Given the description of an element on the screen output the (x, y) to click on. 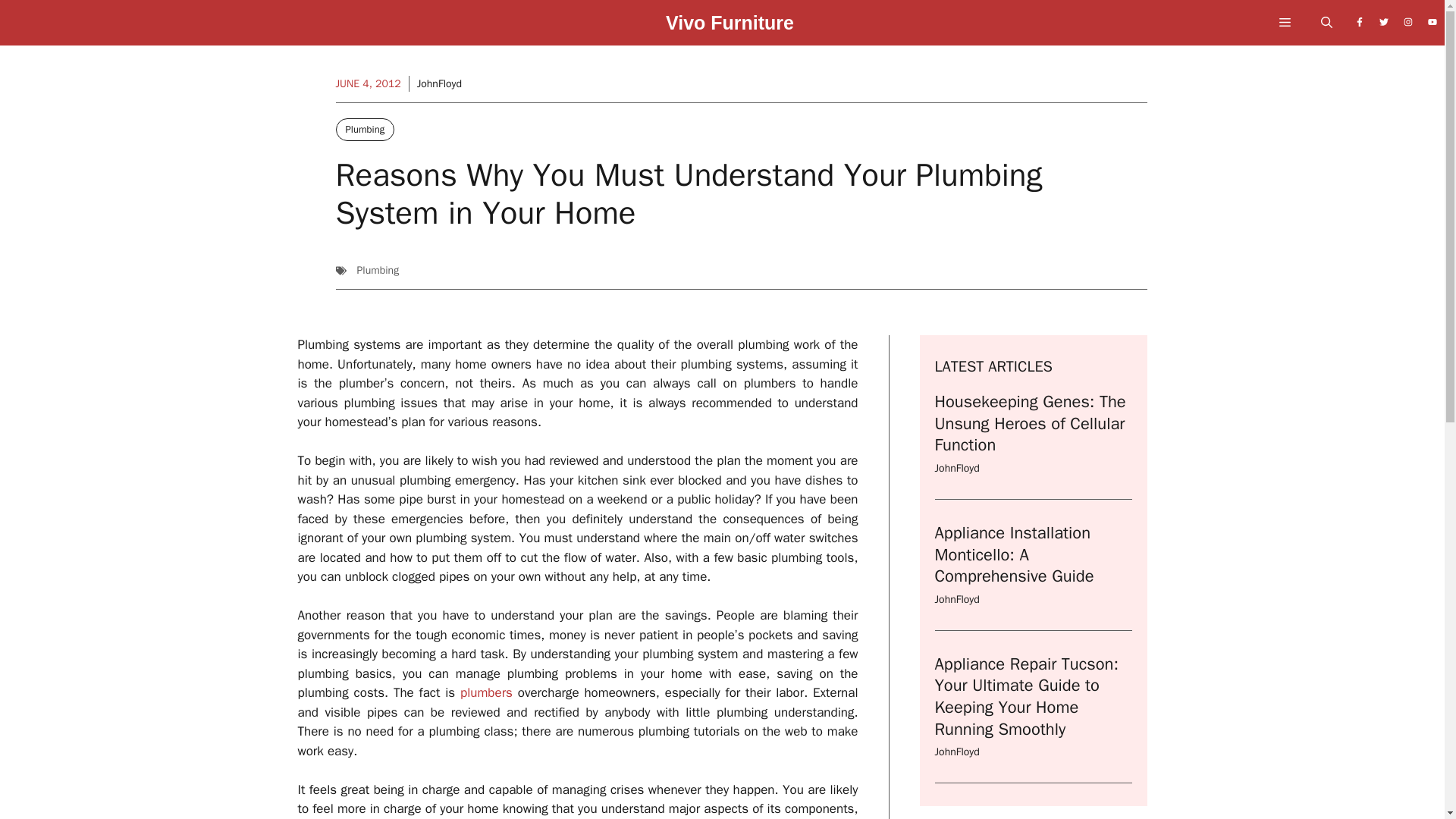
Plumbing (377, 269)
Vivo Furniture (729, 26)
plumbers (486, 692)
Plumbing (364, 128)
JohnFloyd (438, 83)
JohnFloyd (956, 751)
Housekeeping Genes: The Unsung Heroes of Cellular Function (1029, 423)
JohnFloyd (956, 468)
JohnFloyd (956, 599)
